Given the description of an element on the screen output the (x, y) to click on. 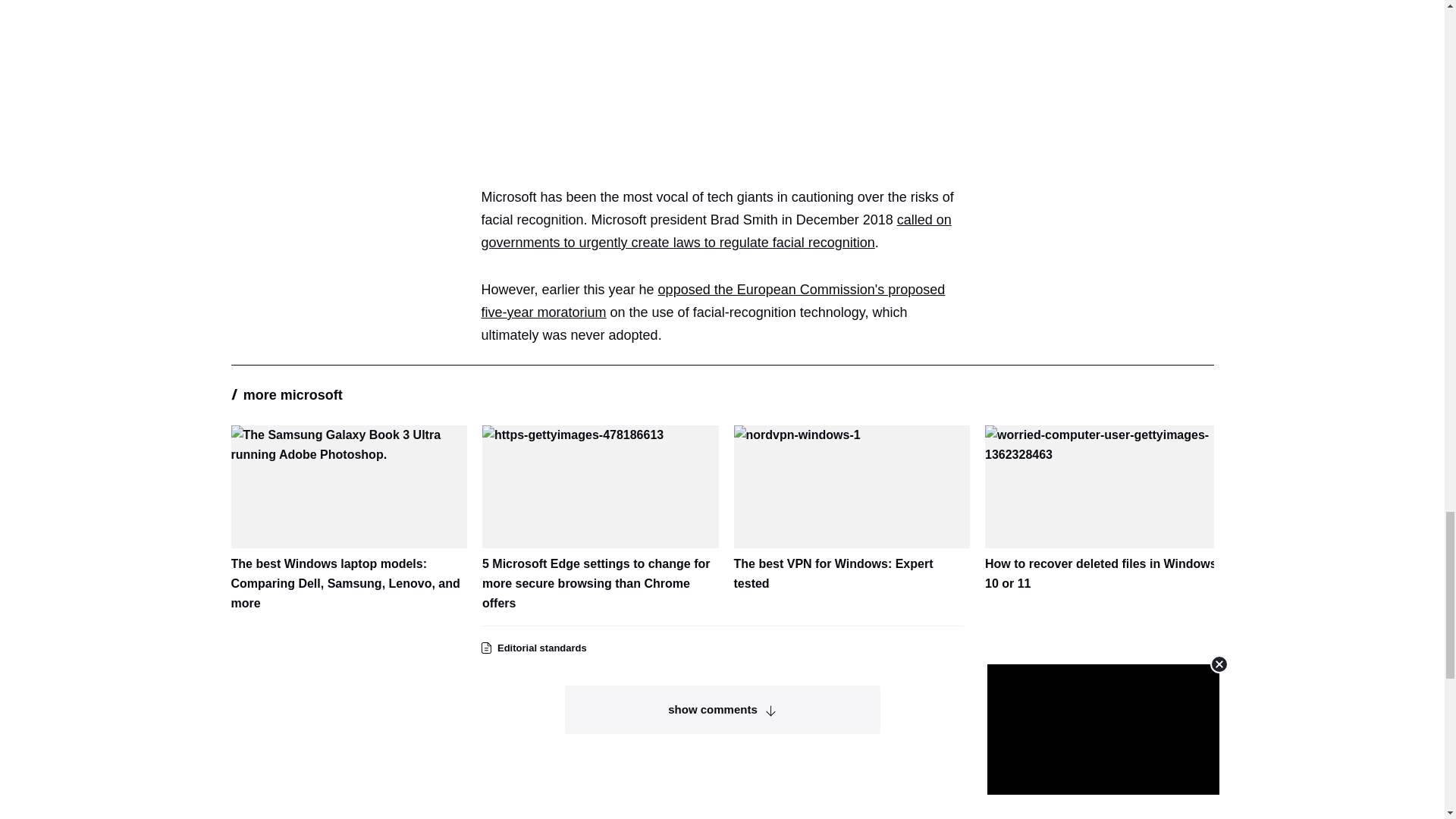
How to recover deleted files in Windows 10 or 11 (1103, 509)
The best VPN for Windows: Expert tested (852, 509)
